Given the description of an element on the screen output the (x, y) to click on. 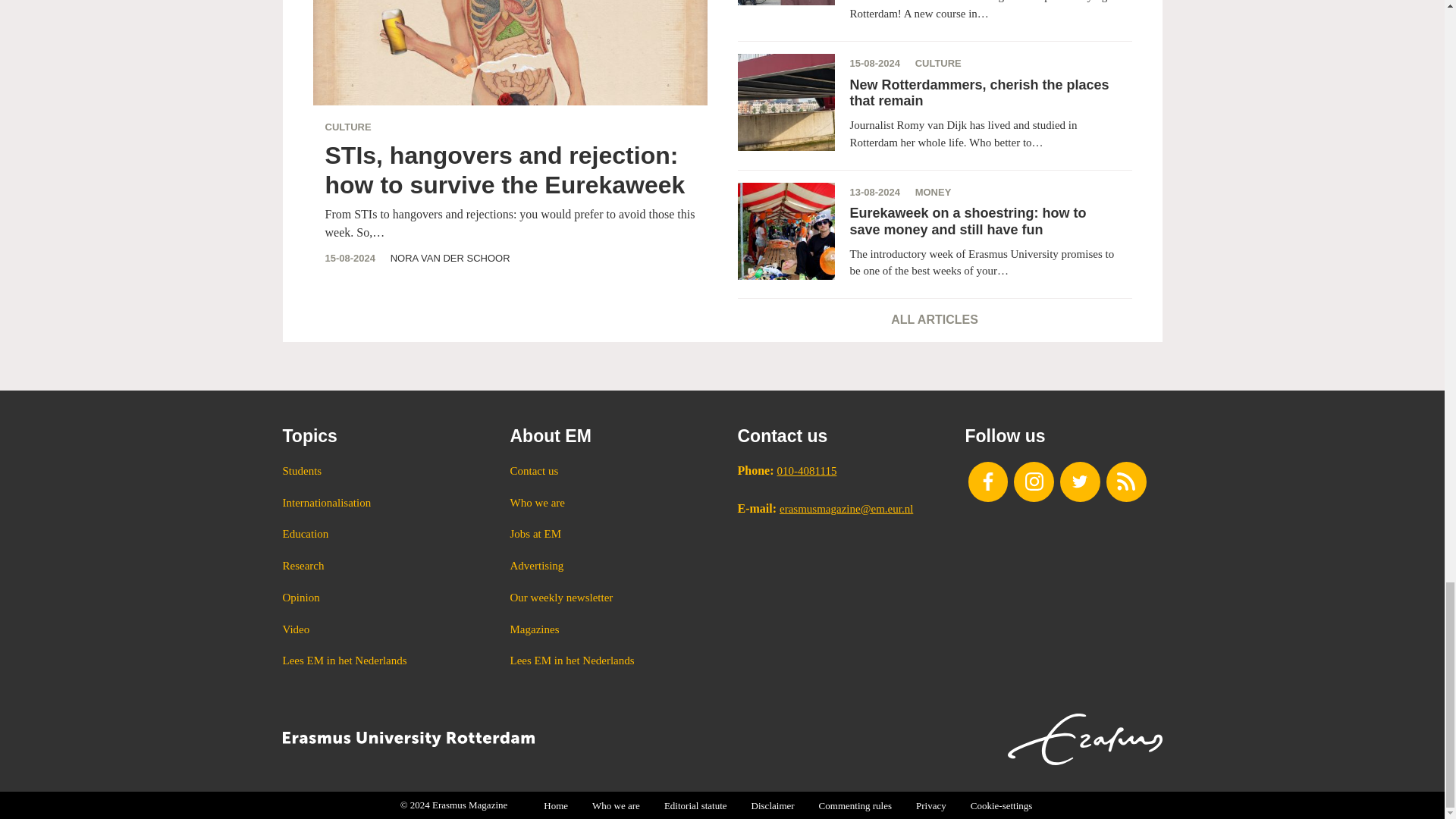
Opinion (380, 597)
Subscribe to our RSS feed (1126, 481)
Video (380, 629)
Internationalisation (380, 503)
ALL ARTICLES (934, 318)
Visit us on Instagram (1033, 481)
Follow us on Twitter (1079, 481)
Research (380, 566)
Education (380, 534)
Students (380, 471)
